Given the description of an element on the screen output the (x, y) to click on. 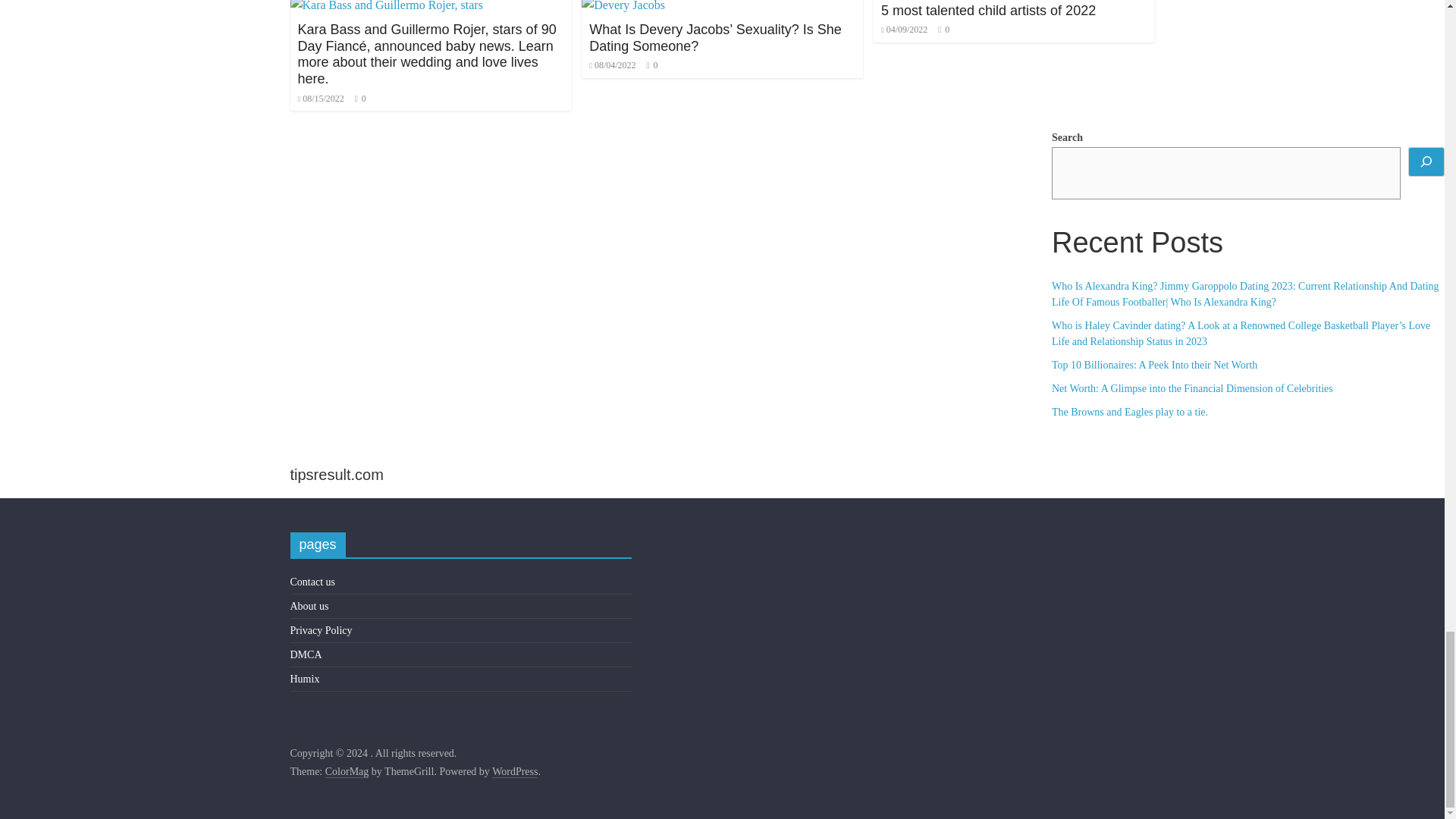
5 most talented child artists of 2022 (988, 10)
The Browns and Eagles play to a tie. (1129, 411)
6:22 pm (611, 64)
WordPress (514, 771)
5 most talented child artists of 2022 (988, 10)
ColorMag (346, 771)
Top 10 Billionaires: A Peek Into their Net Worth (1154, 365)
10:41 am (903, 29)
About us (309, 605)
Privacy Policy (320, 630)
4:20 pm (320, 98)
Contact us (311, 582)
